Given the description of an element on the screen output the (x, y) to click on. 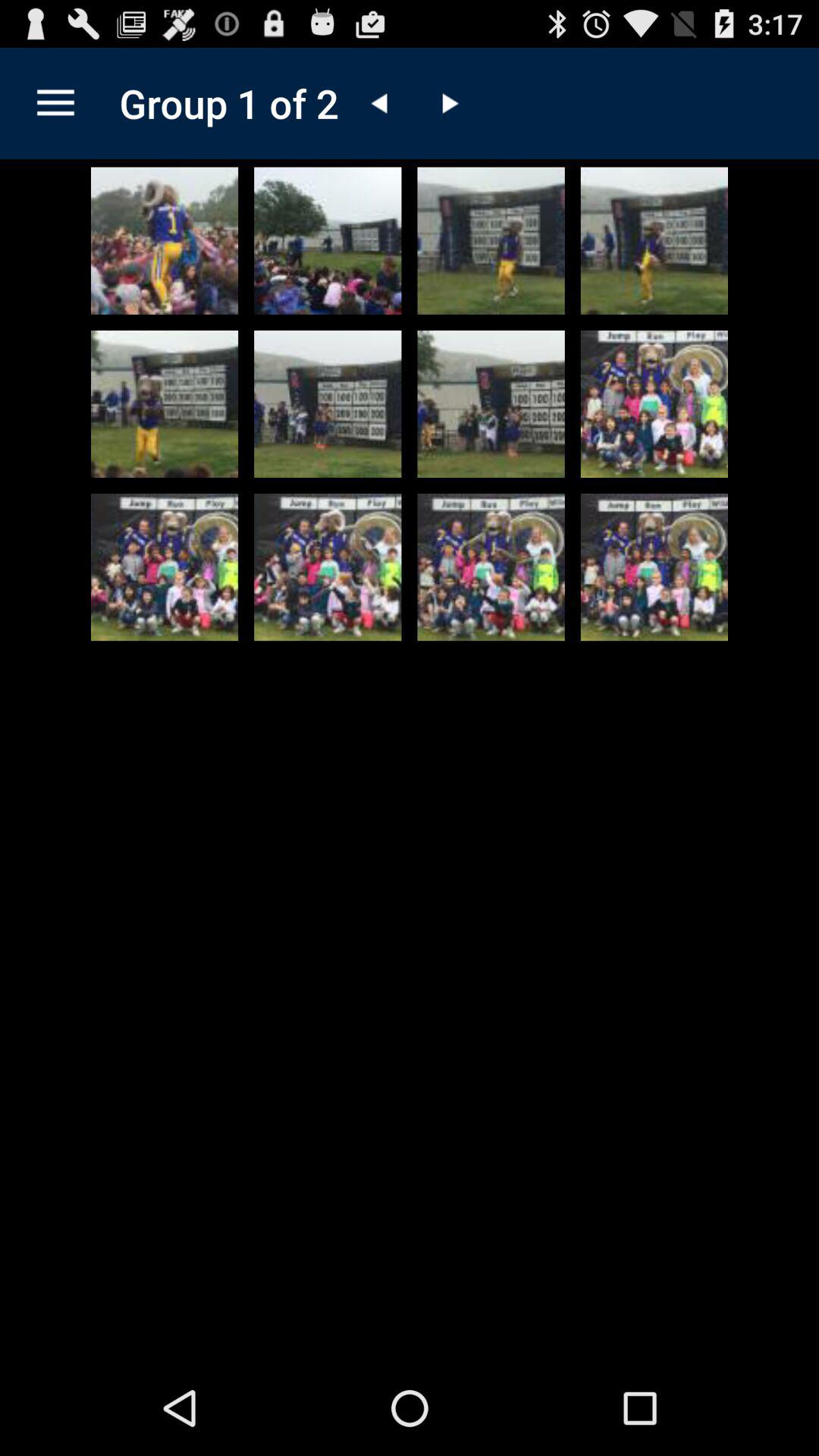
open menu (55, 103)
